Given the description of an element on the screen output the (x, y) to click on. 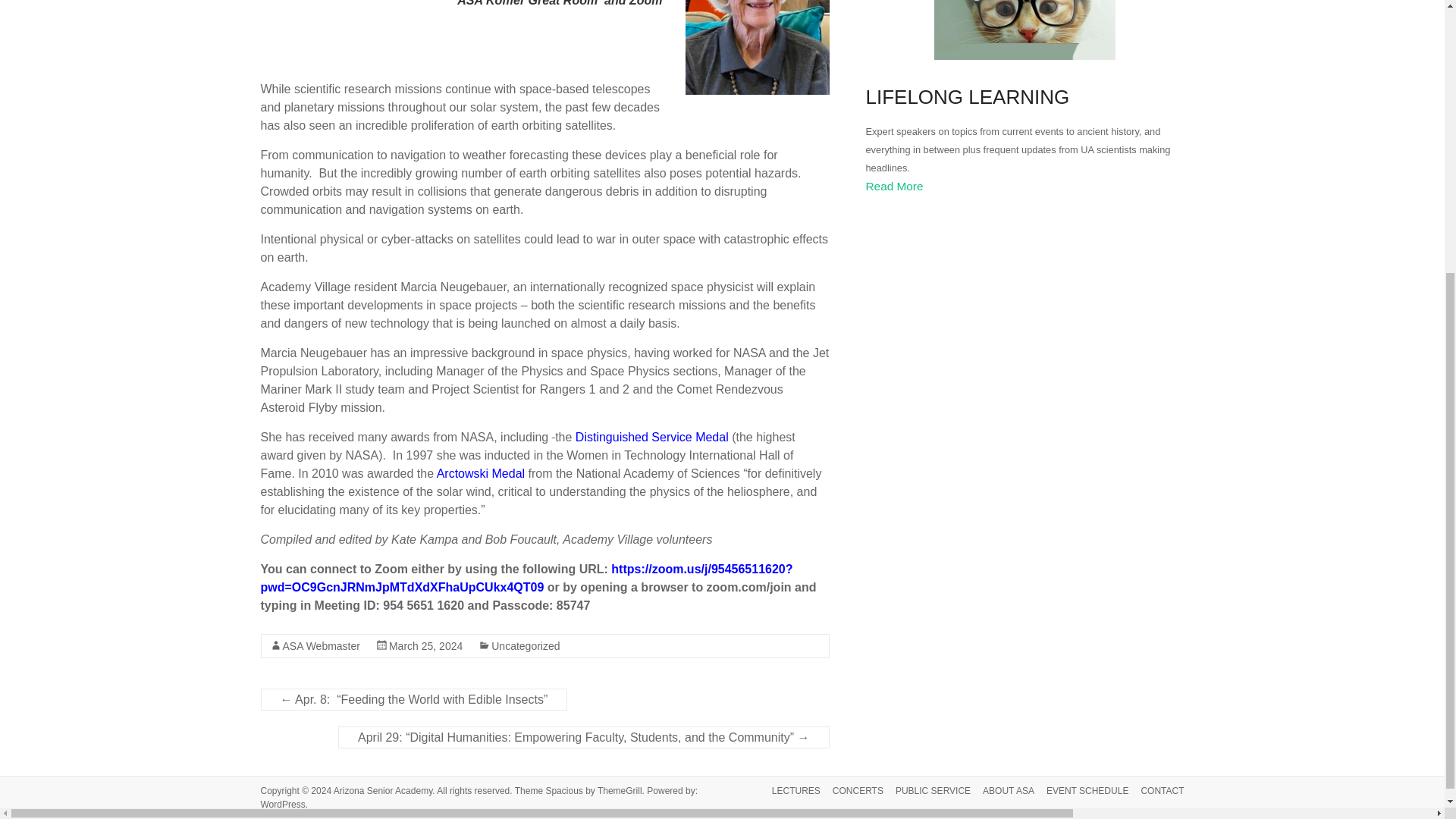
Arizona Senior Academy (382, 790)
Spacious (563, 790)
WordPress (282, 804)
11:56 am (425, 645)
